Given the description of an element on the screen output the (x, y) to click on. 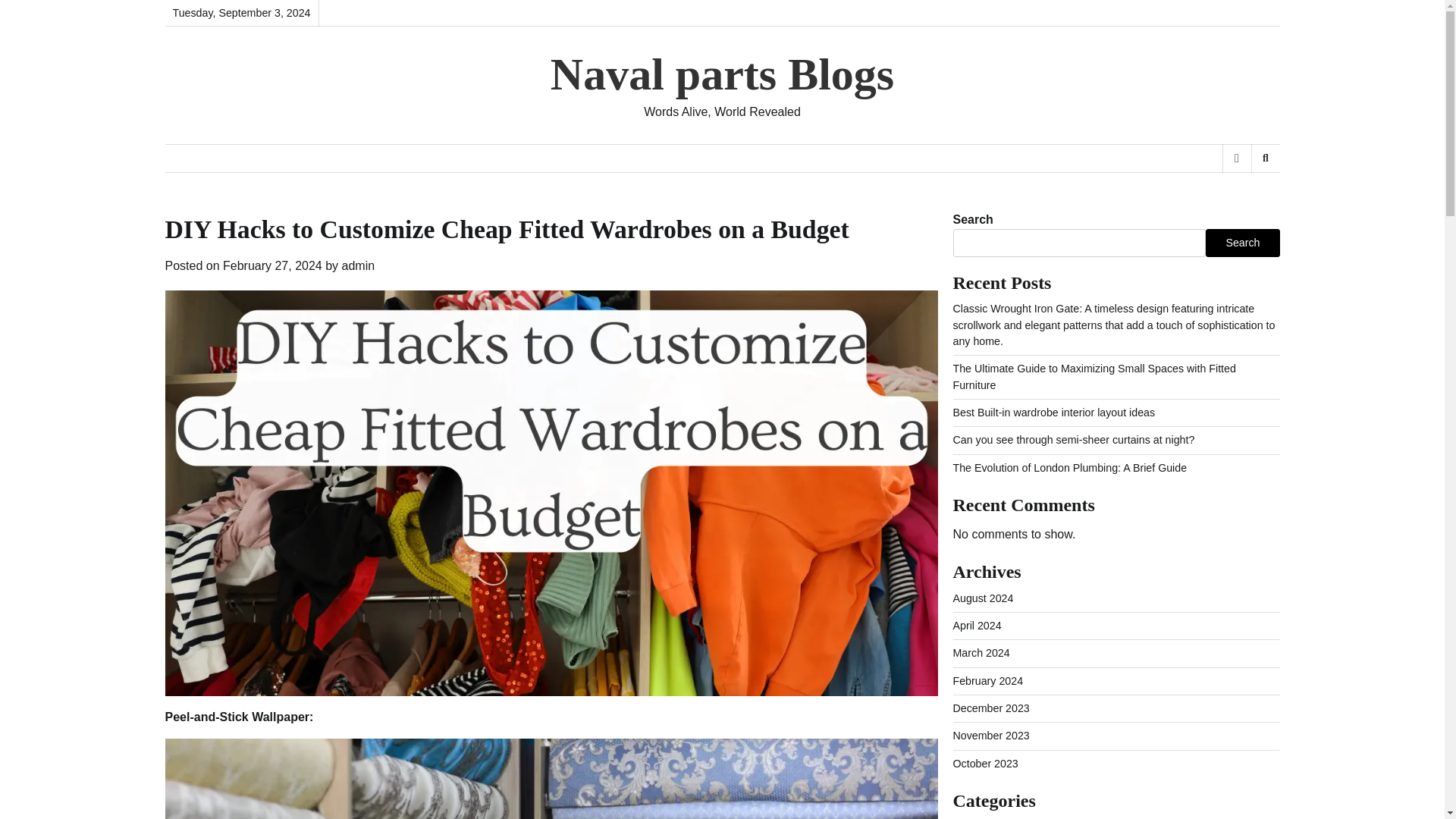
Best Built-in wardrobe interior layout ideas (1053, 412)
February 2024 (987, 680)
Search (1242, 242)
August 2024 (982, 598)
October 2023 (984, 763)
March 2024 (980, 653)
Search (1240, 197)
admin (358, 265)
